Given the description of an element on the screen output the (x, y) to click on. 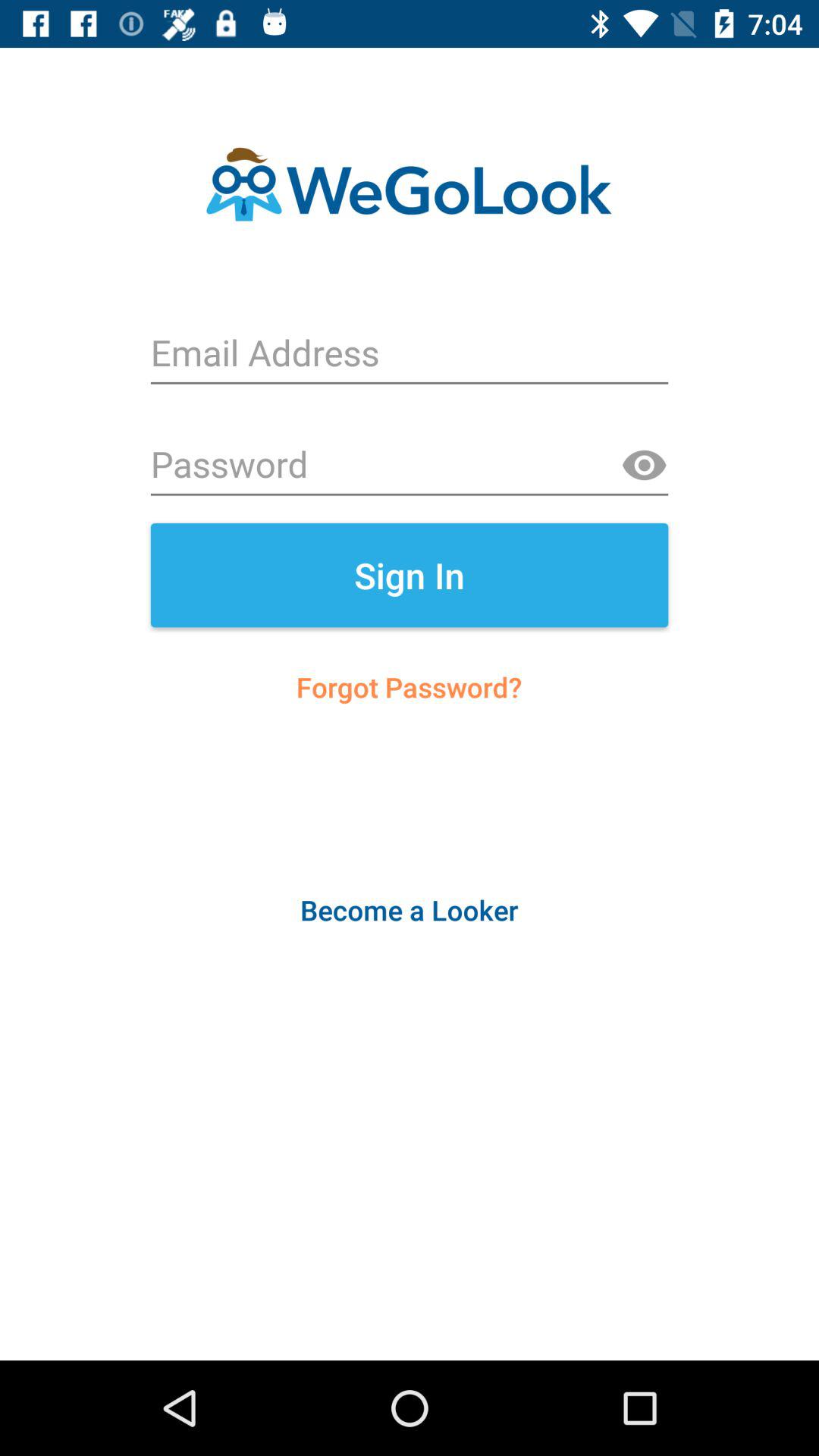
turn off the icon above the become a looker item (409, 686)
